Given the description of an element on the screen output the (x, y) to click on. 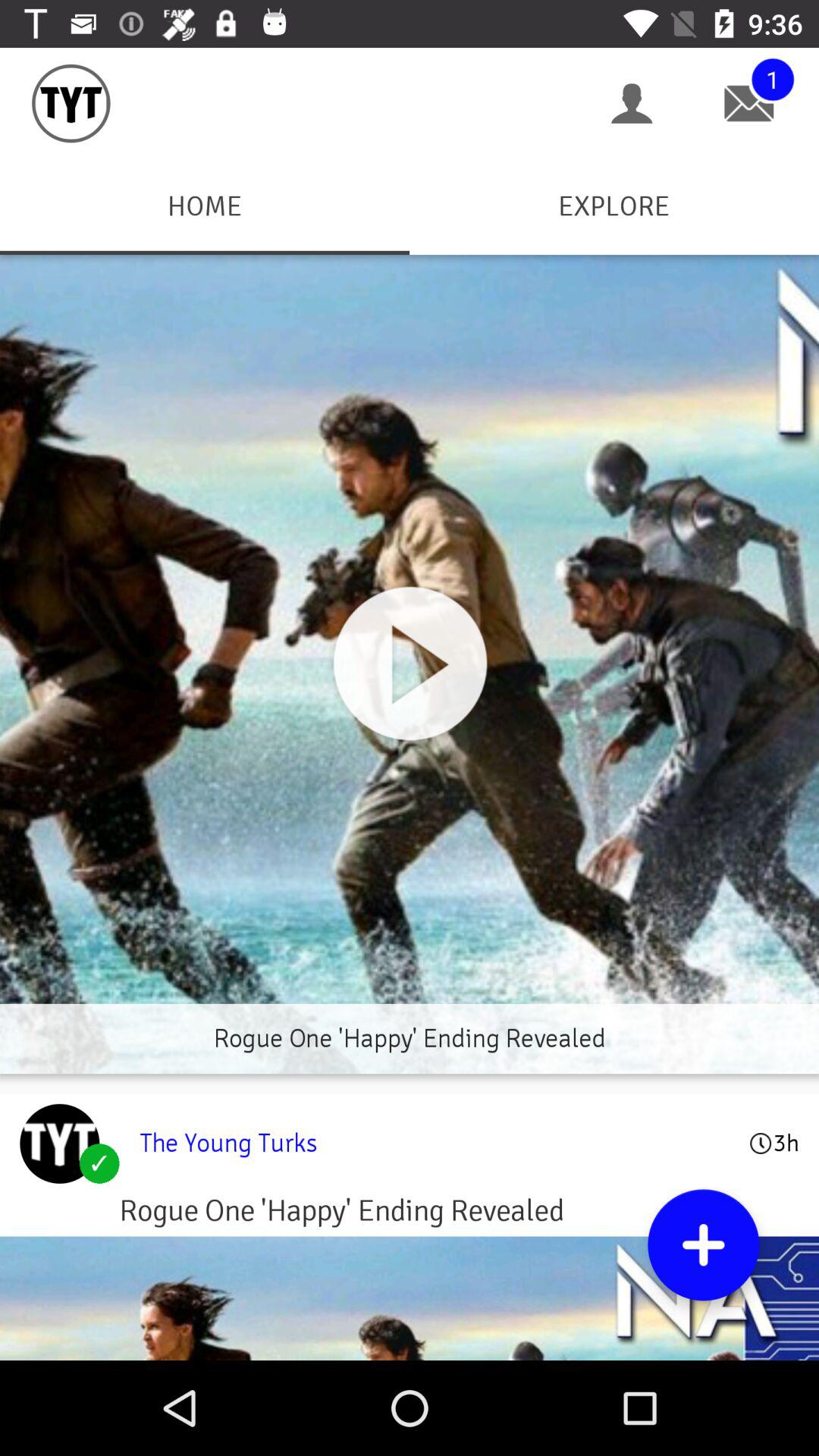
press the app next to the rogue one happy (59, 1143)
